Given the description of an element on the screen output the (x, y) to click on. 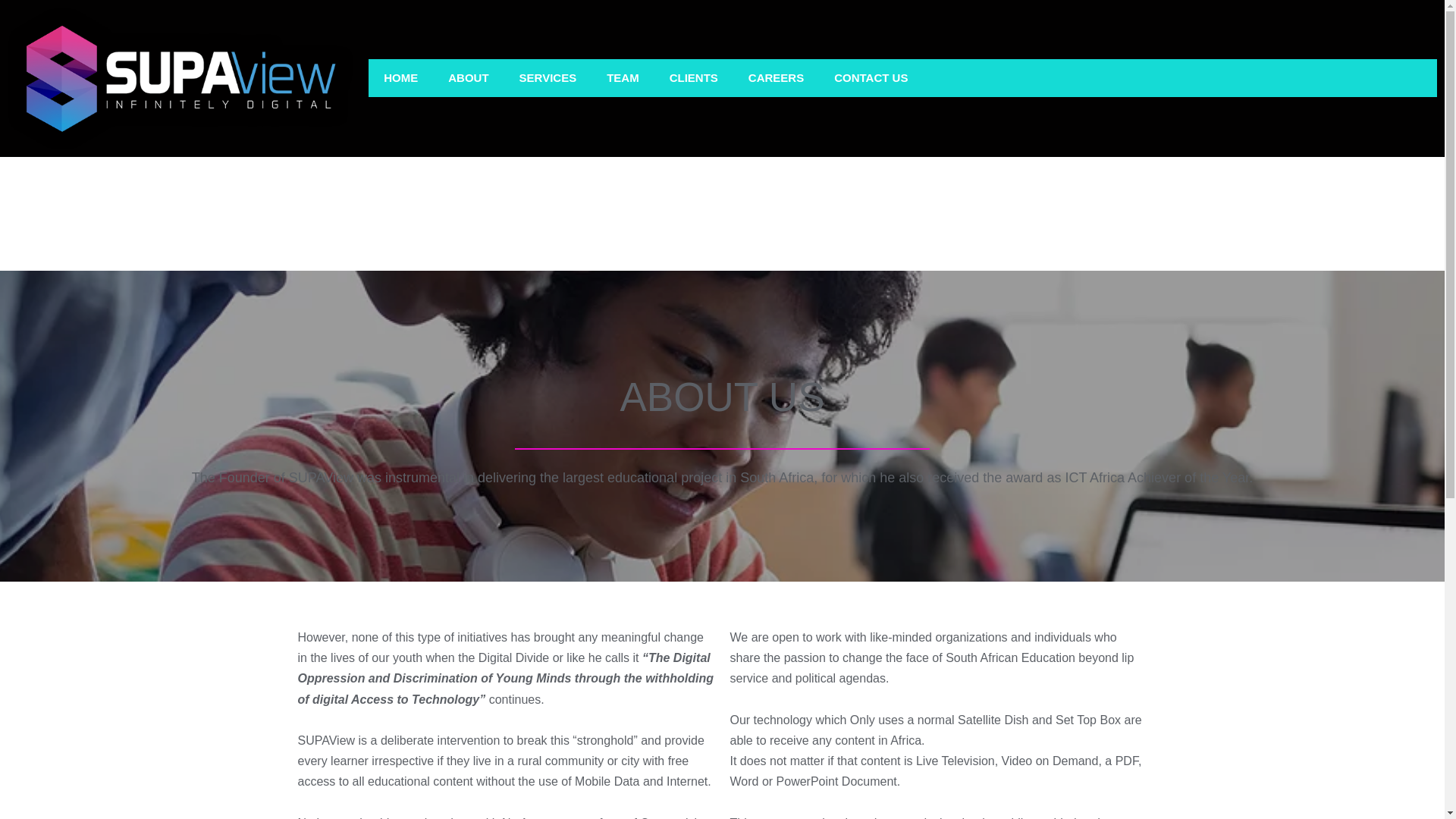
CLIENTS (693, 77)
SERVICES (547, 77)
CONTACT US (870, 77)
CAREERS (775, 77)
ABOUT (467, 77)
TEAM (622, 77)
HOME (400, 77)
